Given the description of an element on the screen output the (x, y) to click on. 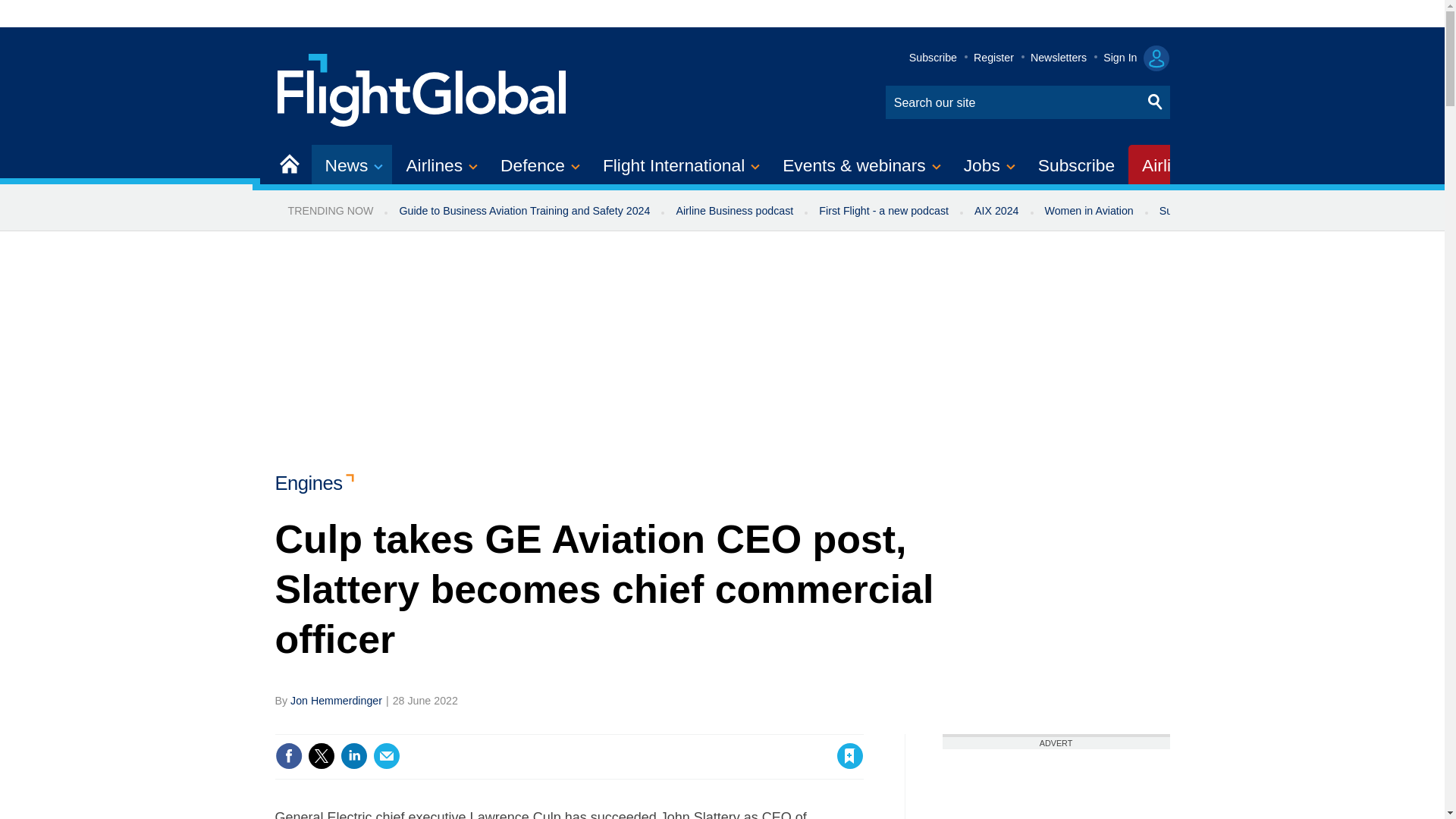
Sustainable Aviation newsletter (1234, 210)
Share this on Twitter (320, 755)
Women in Aviation (1089, 210)
3rd party ad content (1055, 784)
Share this on Linked in (352, 755)
AIX 2024 (996, 210)
Site name (422, 88)
Airline Business podcast (734, 210)
